Given the description of an element on the screen output the (x, y) to click on. 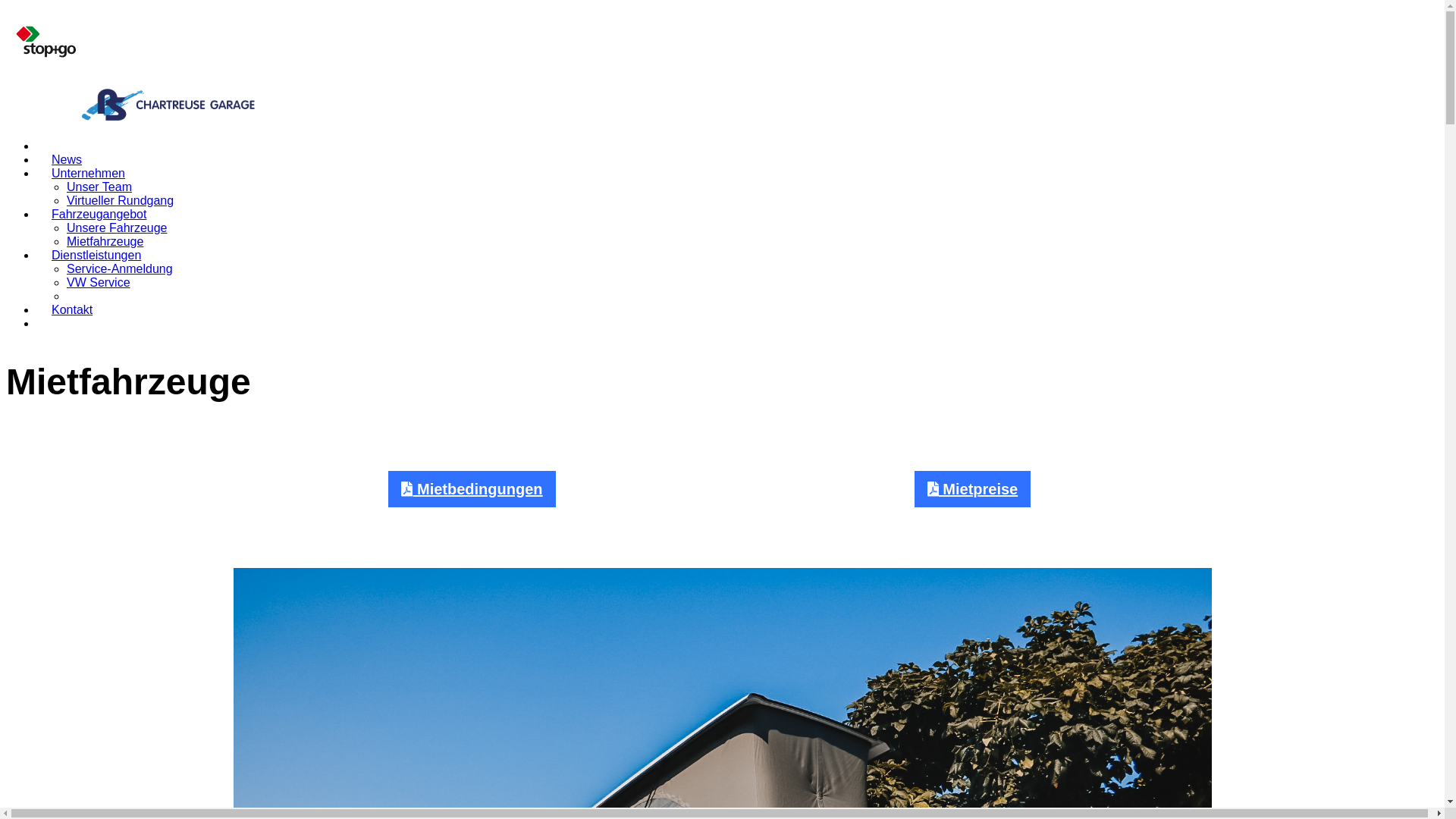
Service-Anmeldung Element type: text (119, 268)
Unternehmen Element type: text (88, 172)
Mietpreise Element type: text (972, 488)
Virtueller Rundgang Element type: text (119, 200)
Fahrzeugangebot Element type: text (98, 213)
News Element type: text (66, 159)
Unser Team Element type: text (98, 186)
Mietbedingungen Element type: text (471, 488)
Dienstleistungen Element type: text (96, 254)
Kontakt Element type: text (71, 309)
VW Service Element type: text (98, 282)
Unsere Fahrzeuge Element type: text (116, 227)
Mietfahrzeuge Element type: text (104, 241)
